Given the description of an element on the screen output the (x, y) to click on. 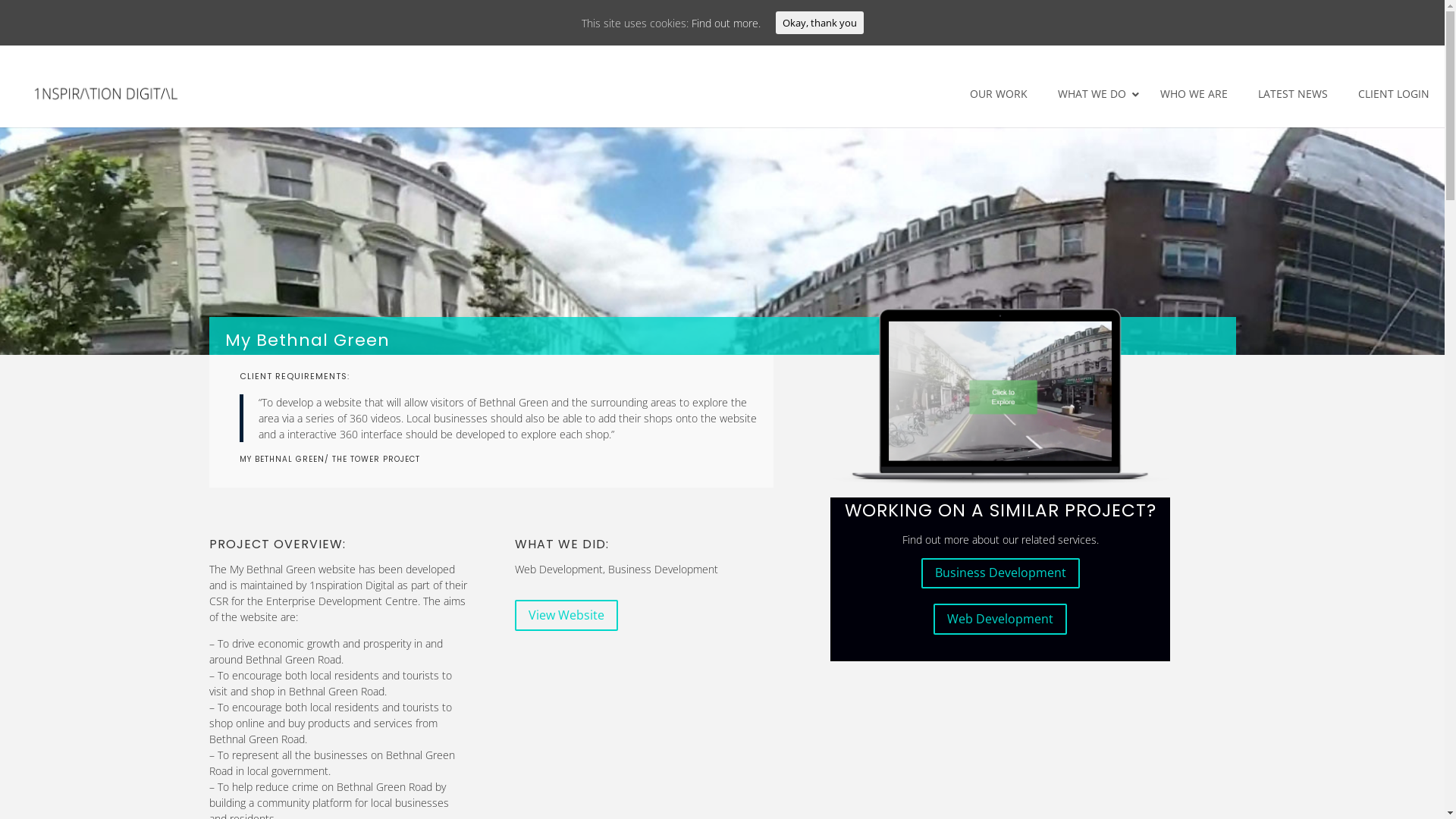
WHAT WE DO Element type: text (1093, 93)
OUR WORK Element type: text (998, 93)
Okay, thank you Element type: text (818, 22)
View Website Element type: text (566, 614)
Find out more. Element type: text (725, 22)
Web Development Element type: text (999, 618)
Business Development Element type: text (1000, 573)
WHO WE ARE Element type: text (1193, 93)
CLIENT LOGIN Element type: text (1393, 93)
LATEST NEWS Element type: text (1292, 93)
